Given the description of an element on the screen output the (x, y) to click on. 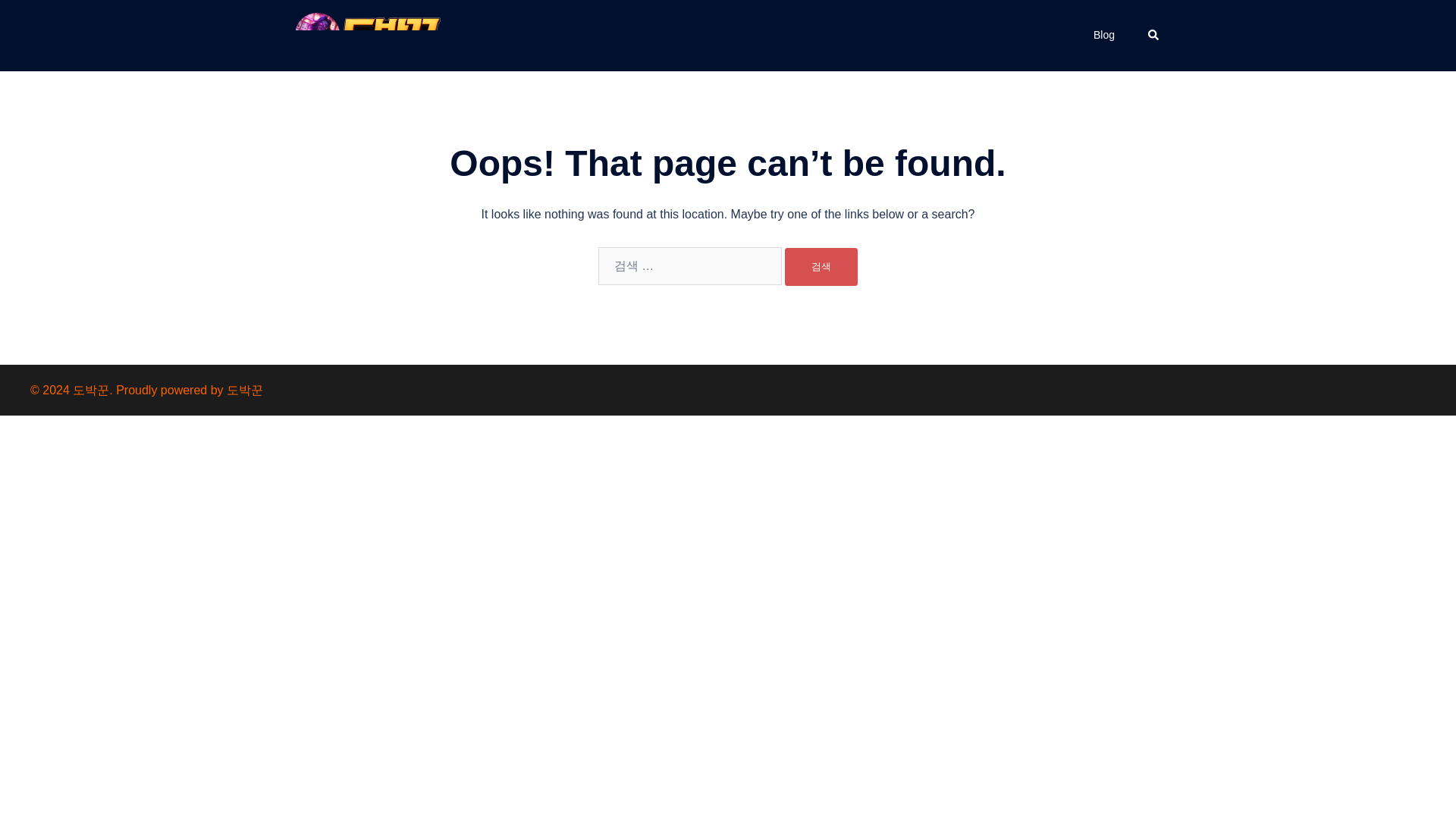
Search (1154, 35)
Blog (1104, 35)
